Given the description of an element on the screen output the (x, y) to click on. 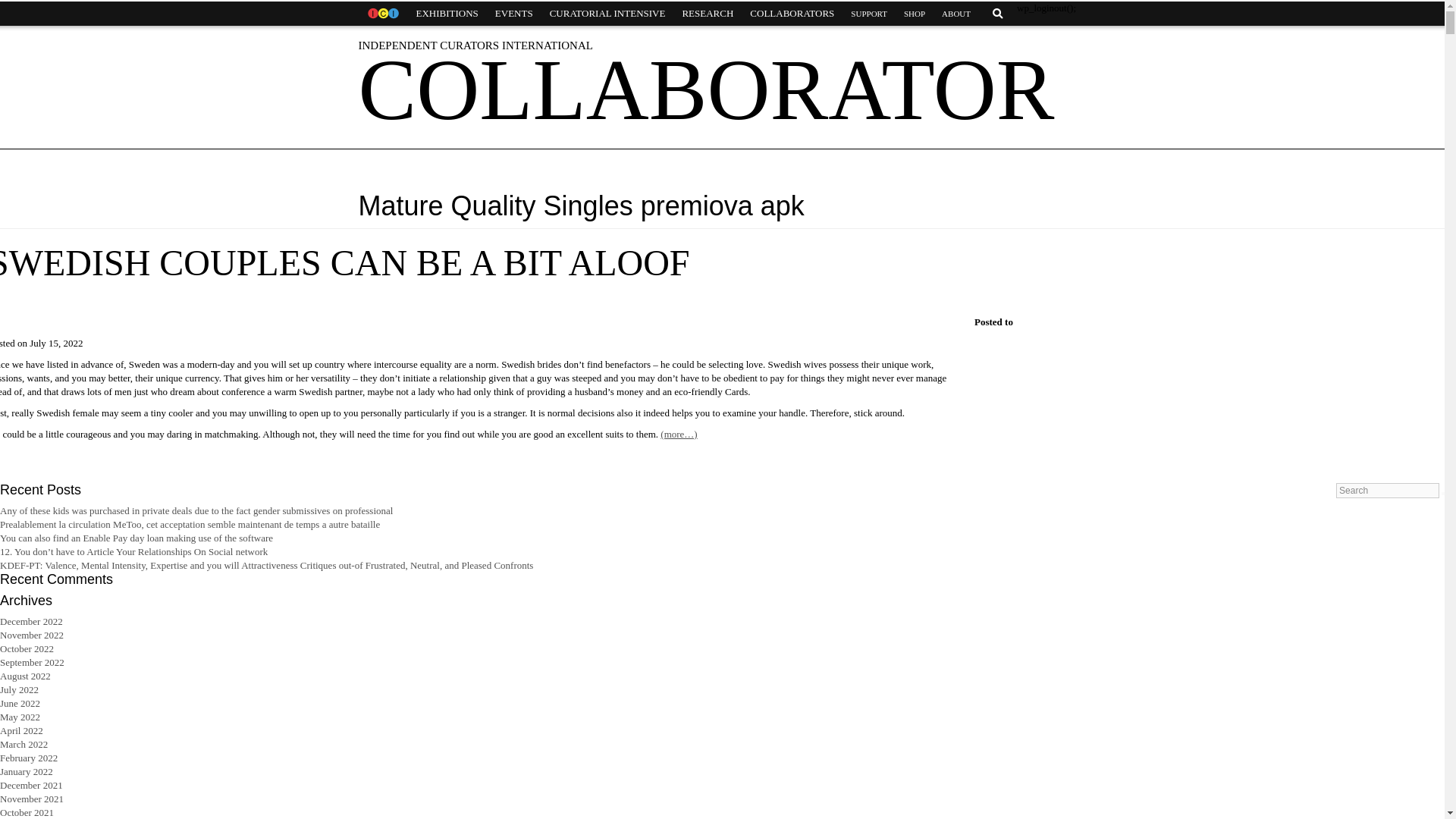
RESEARCH (706, 13)
EVENTS (513, 13)
COLLABORATORS (792, 13)
EXHIBITIONS (446, 13)
CURATORIAL INTENSIVE (607, 13)
HOME (382, 13)
